Given the description of an element on the screen output the (x, y) to click on. 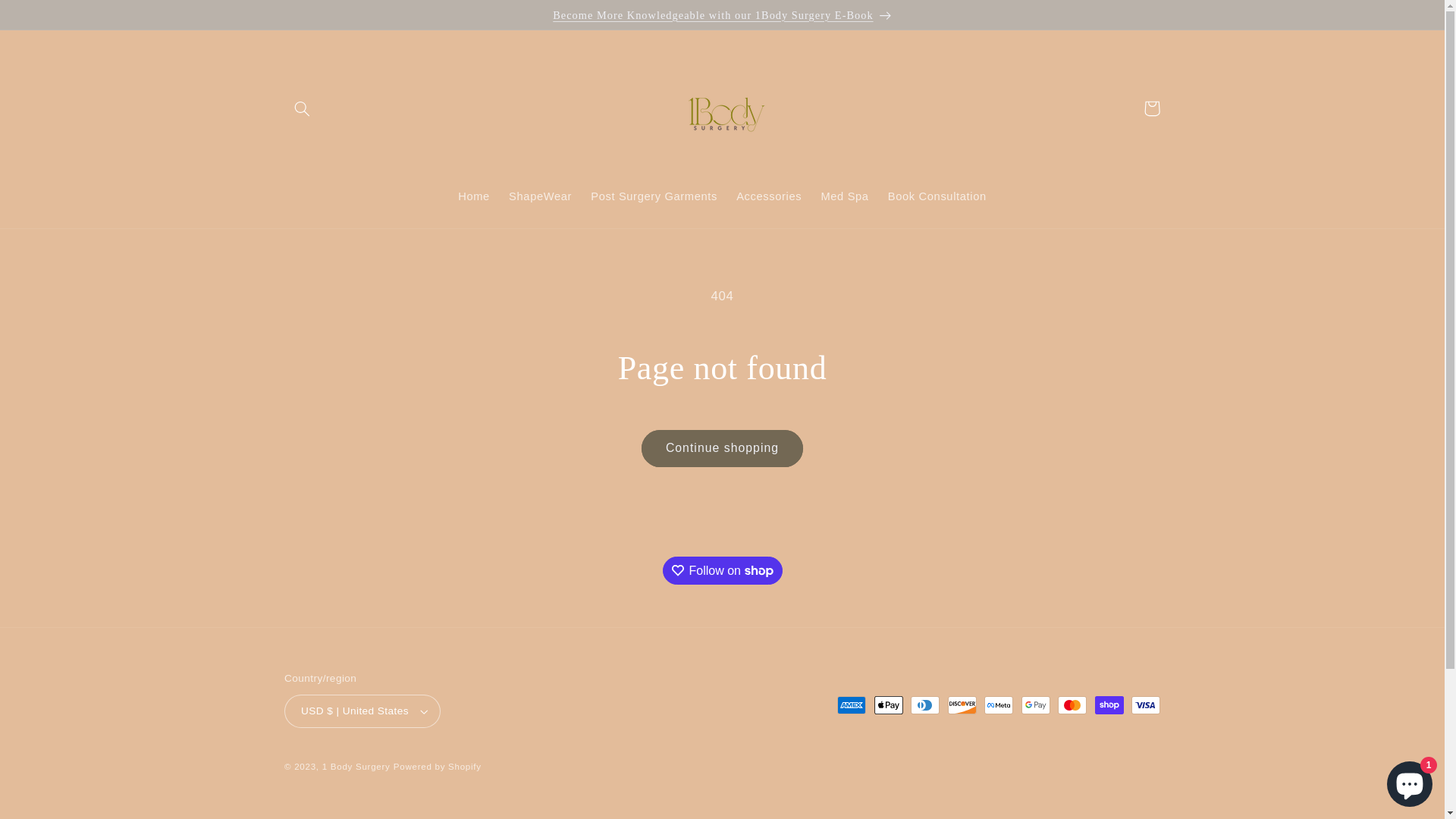
Become More Knowledgeable with our 1Body Surgery E-Book Element type: text (722, 14)
Shopify online store chat Element type: hover (1409, 780)
Accessories Element type: text (769, 196)
1 Body Surgery Element type: text (356, 766)
Powered by Shopify Element type: text (437, 766)
Continue shopping Element type: text (721, 448)
USD $ | United States Element type: text (362, 711)
Med Spa Element type: text (844, 196)
Home Element type: text (473, 196)
ShapeWear Element type: text (540, 196)
Book Consultation Element type: text (936, 196)
Post Surgery Garments Element type: text (654, 196)
Cart Element type: text (1151, 108)
